Given the description of an element on the screen output the (x, y) to click on. 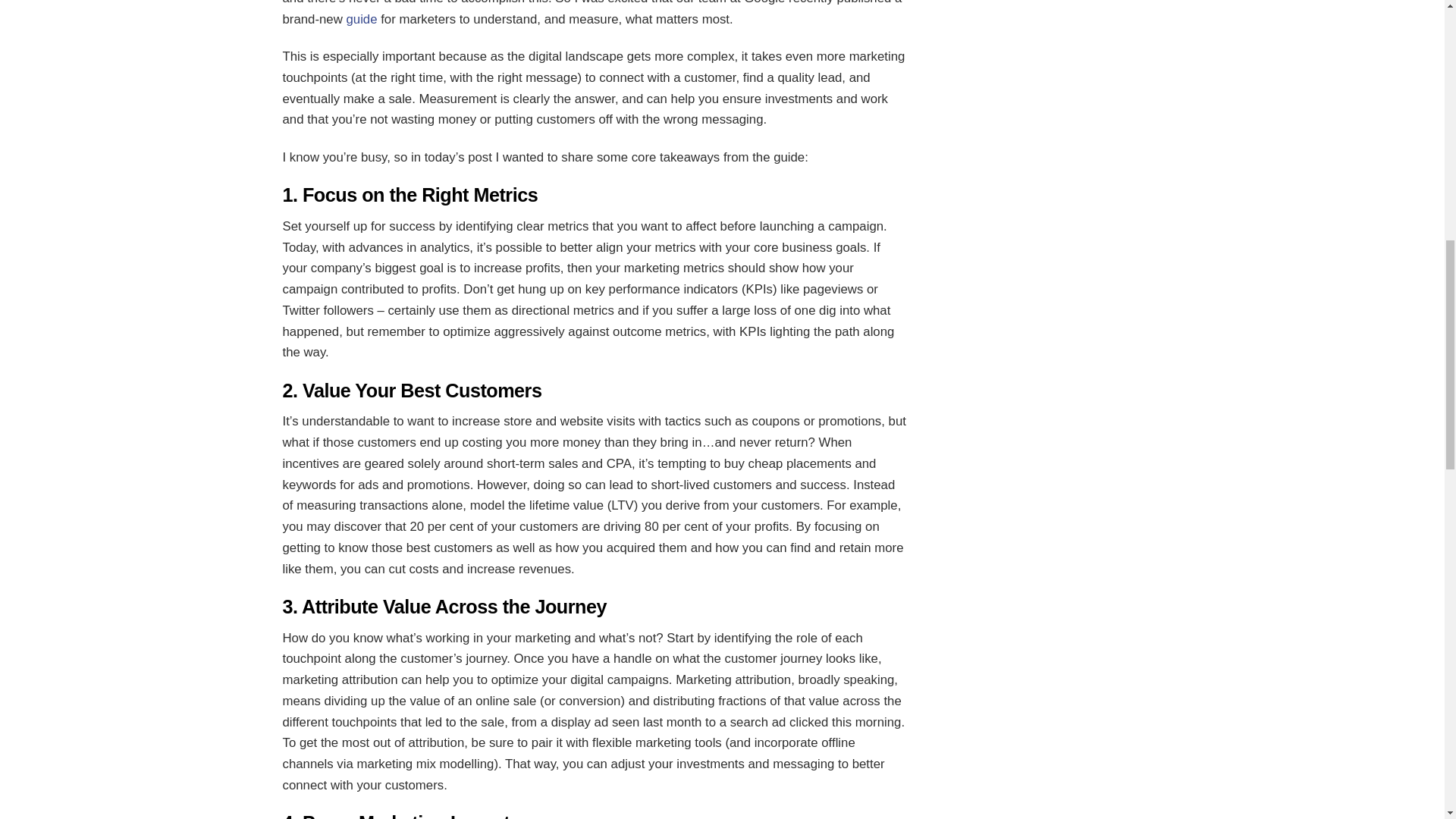
guide (361, 19)
